Given the description of an element on the screen output the (x, y) to click on. 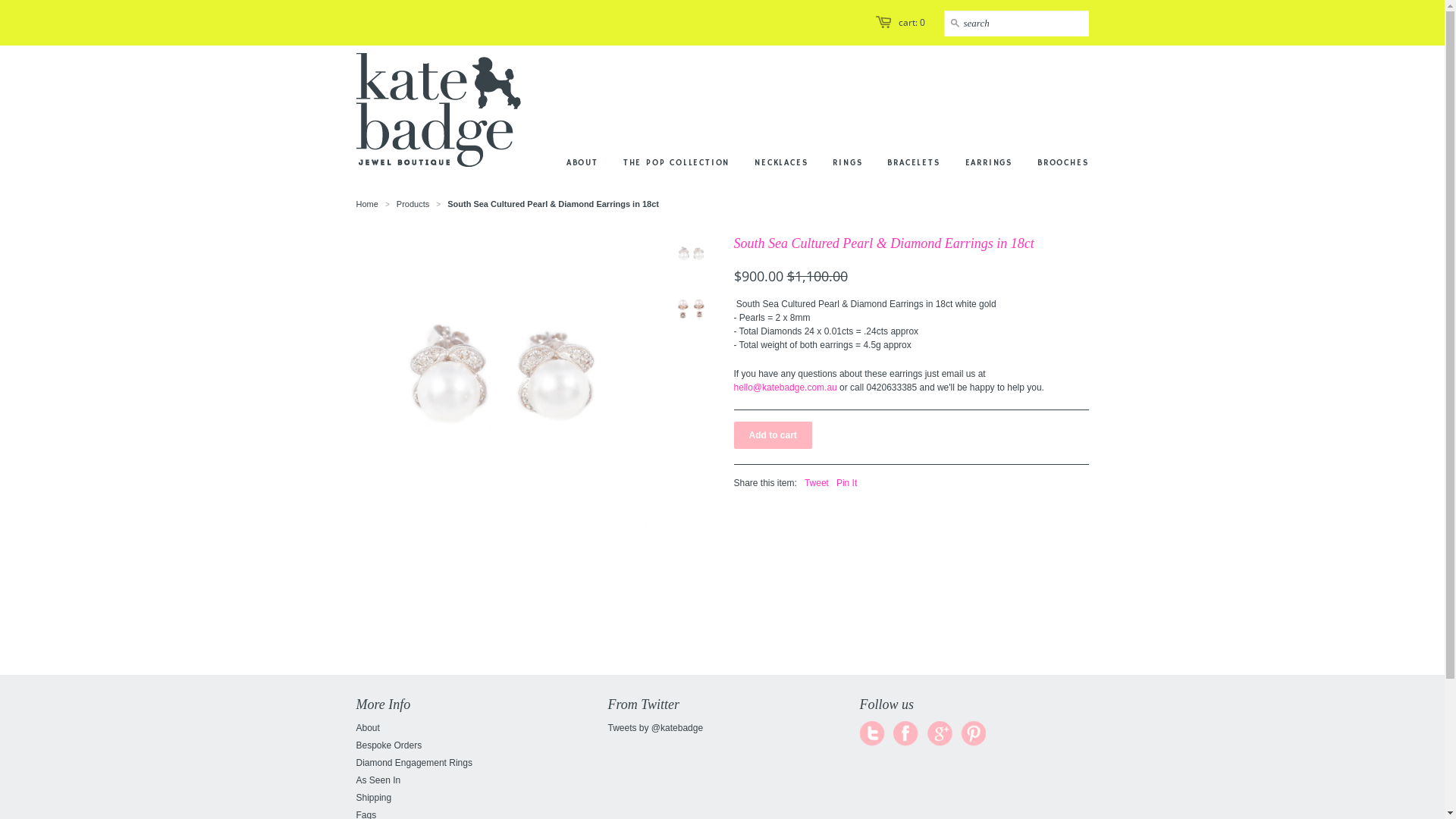
Products Element type: text (412, 203)
Google Plus Element type: text (939, 733)
cart: 0 Element type: text (910, 21)
NECKLACES Element type: text (769, 102)
Home Element type: text (367, 203)
Facebook Element type: text (906, 733)
BROOCHES Element type: text (1051, 102)
Pin It Element type: text (846, 482)
Diamond Engagement Rings Element type: text (414, 762)
Bespoke Orders Element type: text (389, 745)
hello@katebadge.com.au Element type: text (785, 387)
Tweet Element type: text (816, 482)
RINGS Element type: text (835, 102)
Pinterest Element type: text (972, 733)
ABOUT Element type: text (582, 102)
About Element type: text (367, 727)
THE POP COLLECTION Element type: text (664, 102)
Shipping Element type: text (374, 797)
Twitter Element type: text (872, 733)
As Seen In Element type: text (378, 780)
EARRINGS Element type: text (977, 102)
Add to cart Element type: text (773, 434)
BRACELETS Element type: text (901, 102)
Tweets by @katebadge Element type: text (655, 727)
